Given the description of an element on the screen output the (x, y) to click on. 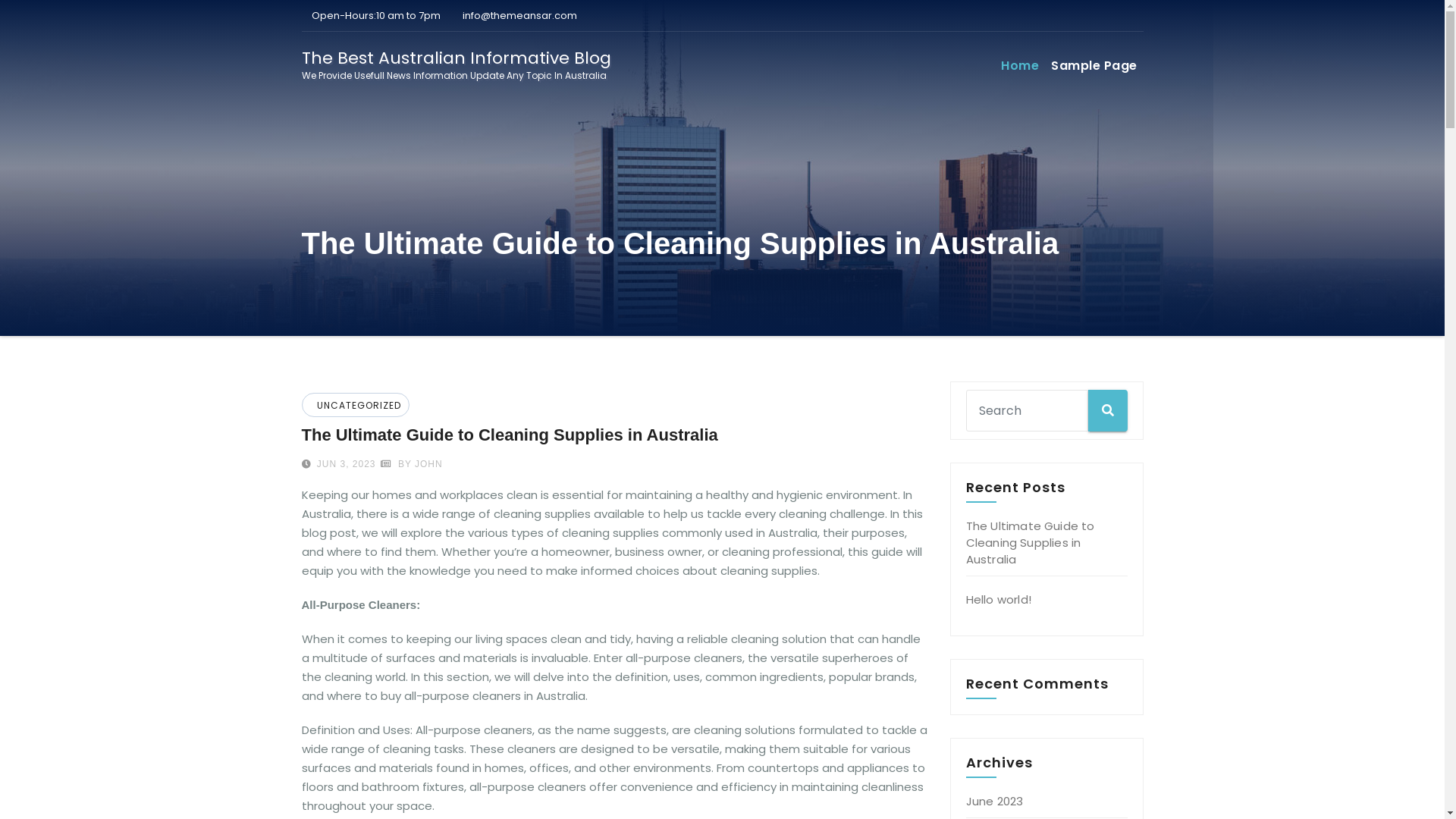
JUN 3, 2023 Element type: text (344, 463)
UNCATEGORIZED Element type: text (356, 404)
Home Element type: text (1019, 65)
Hello world! Element type: text (998, 599)
Open-Hours:10 am to 7pm Element type: text (370, 15)
BY JOHN Element type: text (411, 463)
The Ultimate Guide to Cleaning Supplies in Australia Element type: text (509, 434)
Sample Page Element type: text (1093, 65)
The Ultimate Guide to Cleaning Supplies in Australia Element type: text (1030, 542)
June 2023 Element type: text (994, 801)
info@themeansar.com Element type: text (516, 15)
